Given the description of an element on the screen output the (x, y) to click on. 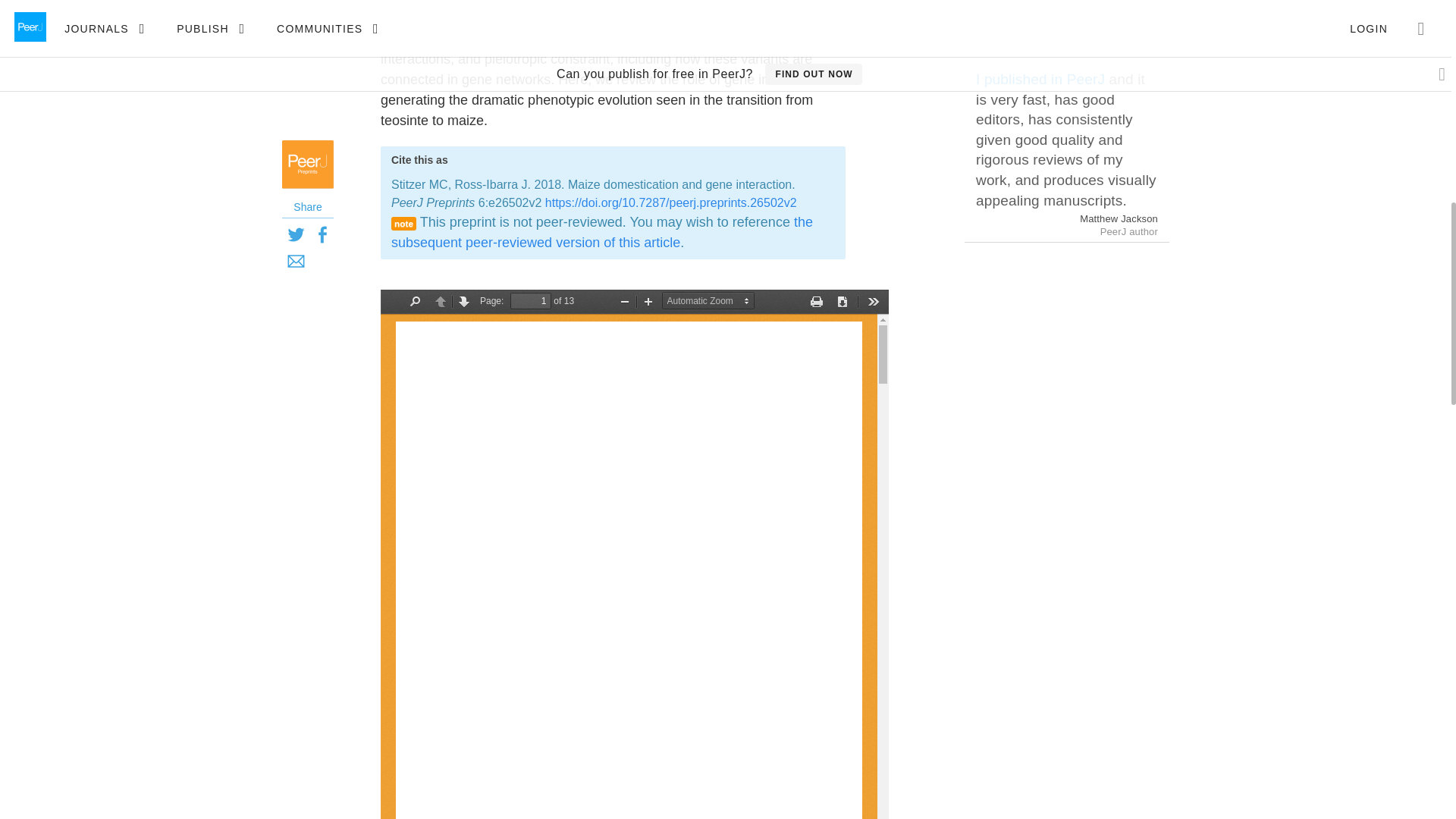
the subsequent peer-reviewed version of this article (601, 232)
